Given the description of an element on the screen output the (x, y) to click on. 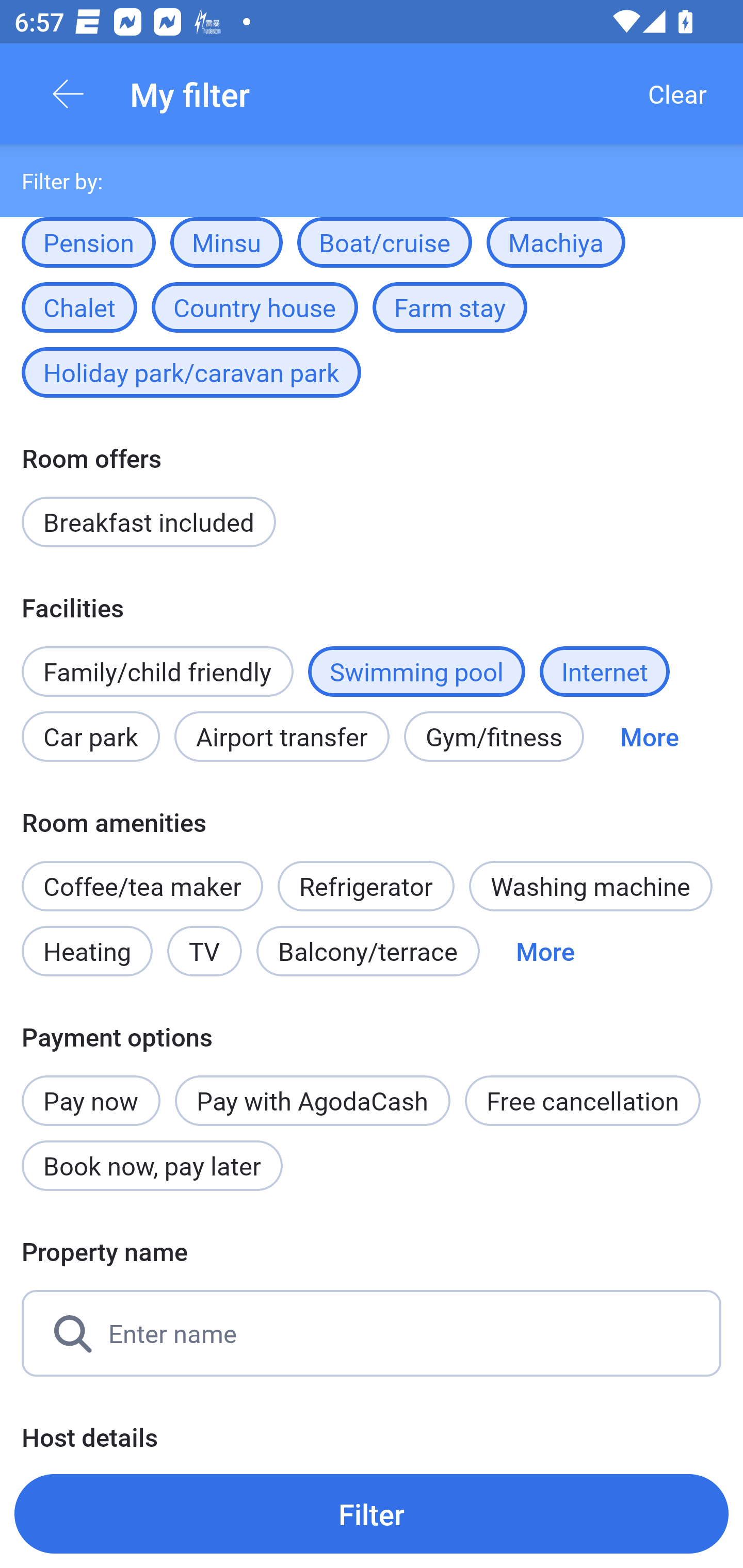
Clear (676, 93)
Breakfast included (148, 522)
Family/child friendly (157, 671)
Car park (90, 736)
Airport transfer (281, 736)
Gym/fitness (493, 736)
More (649, 736)
Coffee/tea maker (142, 886)
Refrigerator (365, 875)
Washing machine (590, 886)
Heating (87, 950)
TV (204, 950)
Balcony/terrace (367, 950)
More (545, 950)
Pay now (90, 1089)
Pay with AgodaCash (312, 1100)
Free cancellation (582, 1100)
Book now, pay later (152, 1165)
Enter name (371, 1333)
Filter (371, 1513)
